Given the description of an element on the screen output the (x, y) to click on. 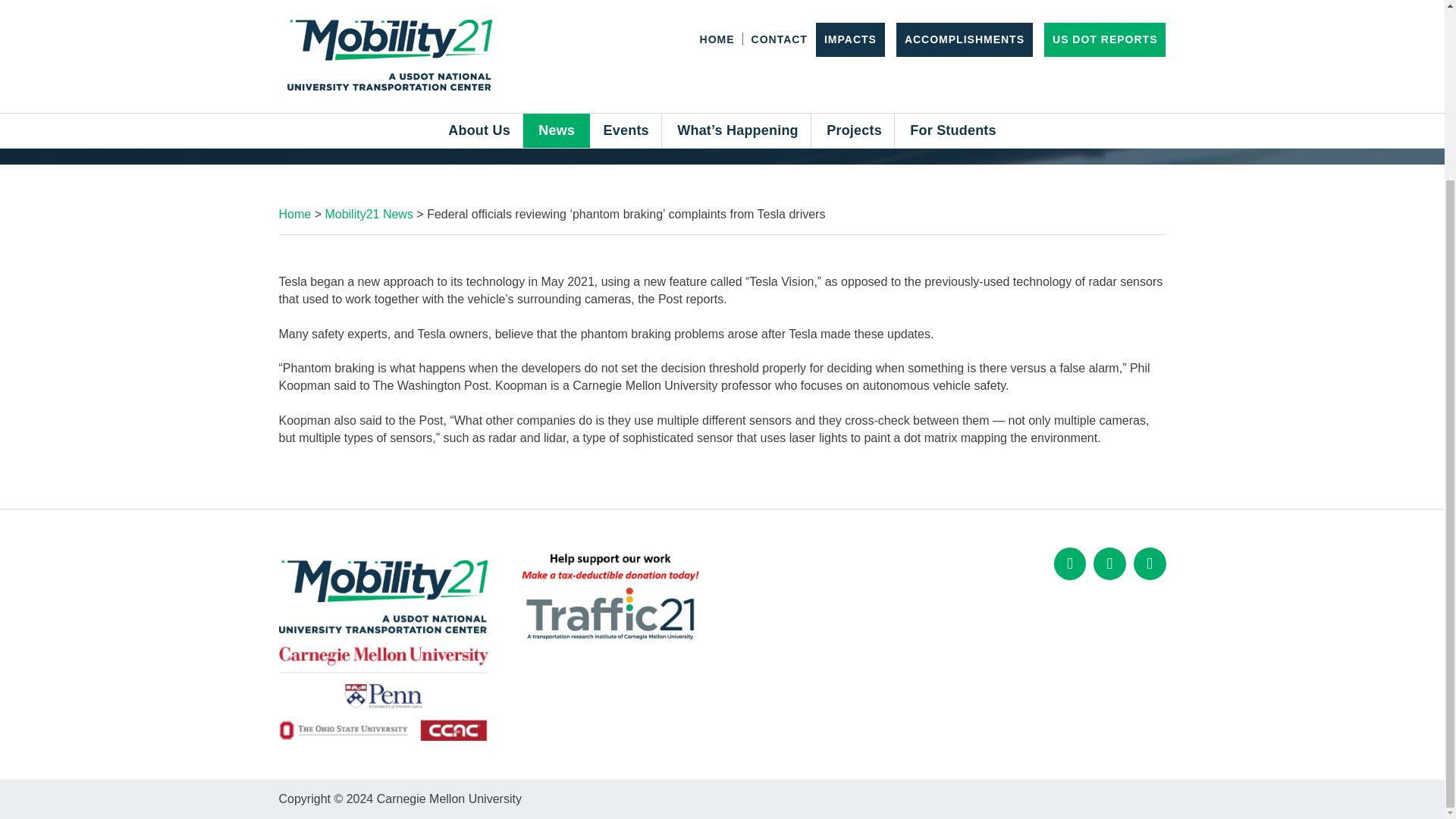
Go to the Mobility21 News category archives. (368, 214)
Go to M21. (295, 214)
YouTube (1150, 563)
Twitter (1109, 563)
Facebook (1070, 563)
